Given the description of an element on the screen output the (x, y) to click on. 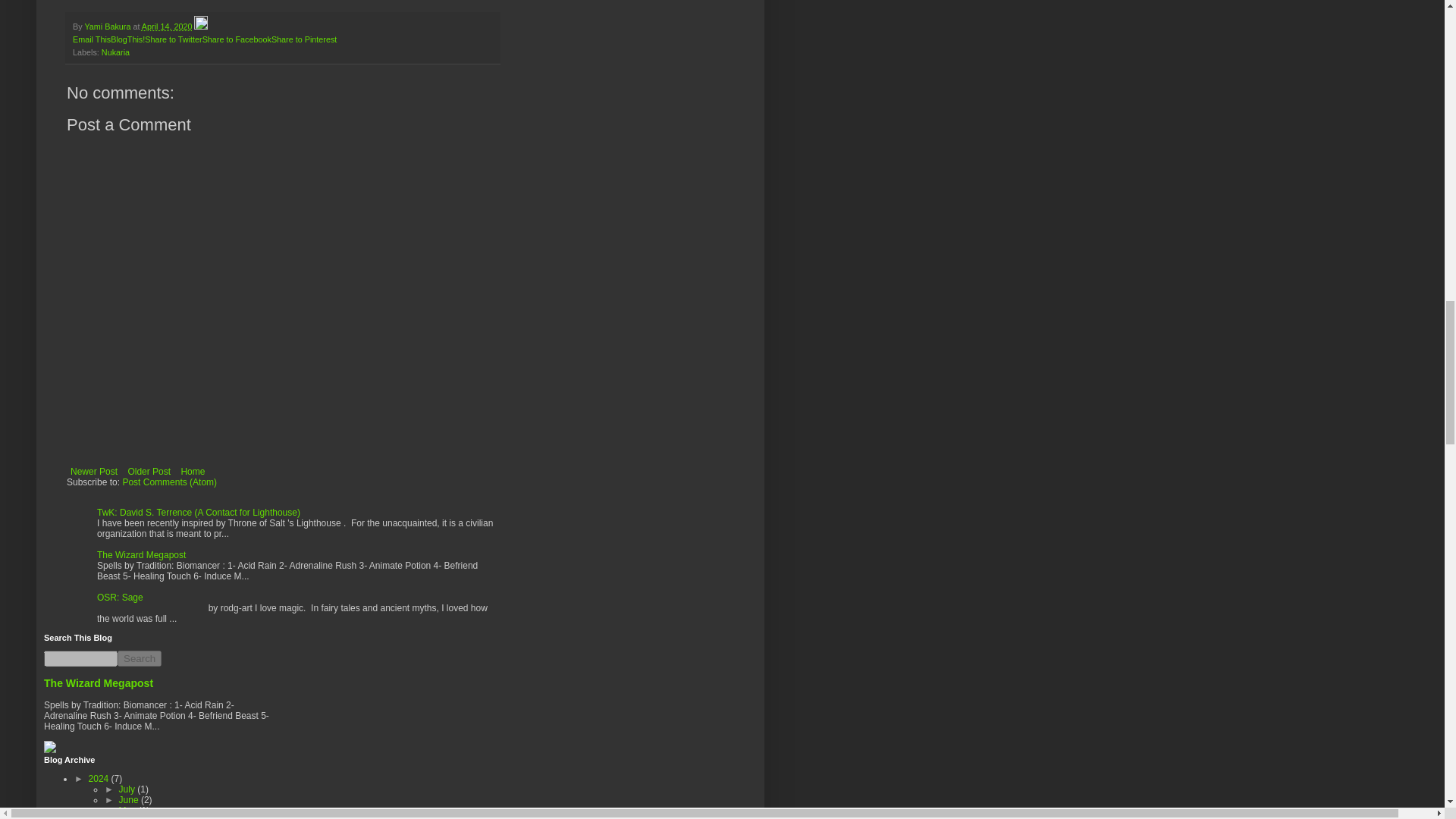
Home (192, 471)
search (139, 658)
June (130, 799)
author profile (108, 26)
Yami Bakura (108, 26)
March (133, 817)
July (128, 788)
Share to Facebook (236, 39)
BlogThis! (127, 39)
Search (139, 658)
Older Post (148, 471)
Share to Twitter (173, 39)
OSR: Sage (119, 597)
Share to Pinterest (303, 39)
Older Post (148, 471)
